Given the description of an element on the screen output the (x, y) to click on. 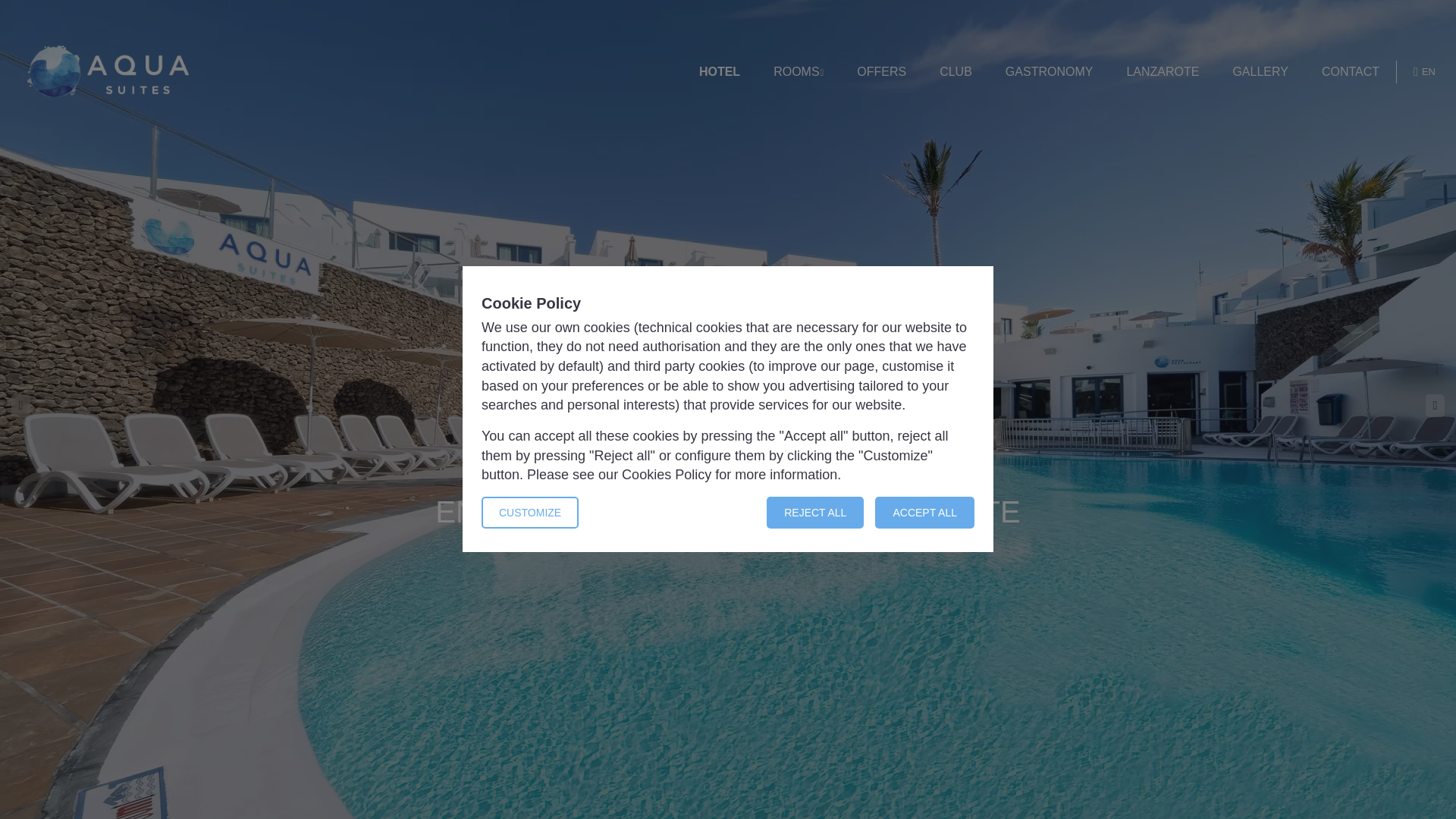
CLUB (956, 72)
HOTEL (719, 72)
ROOMS (797, 72)
CONTACT (1350, 72)
OFFERS (881, 72)
GALLERY (1260, 72)
GASTRONOMY (1049, 72)
LANZAROTE (1162, 72)
Aqua Suites Lanzarote (108, 71)
EN (1424, 71)
